Given the description of an element on the screen output the (x, y) to click on. 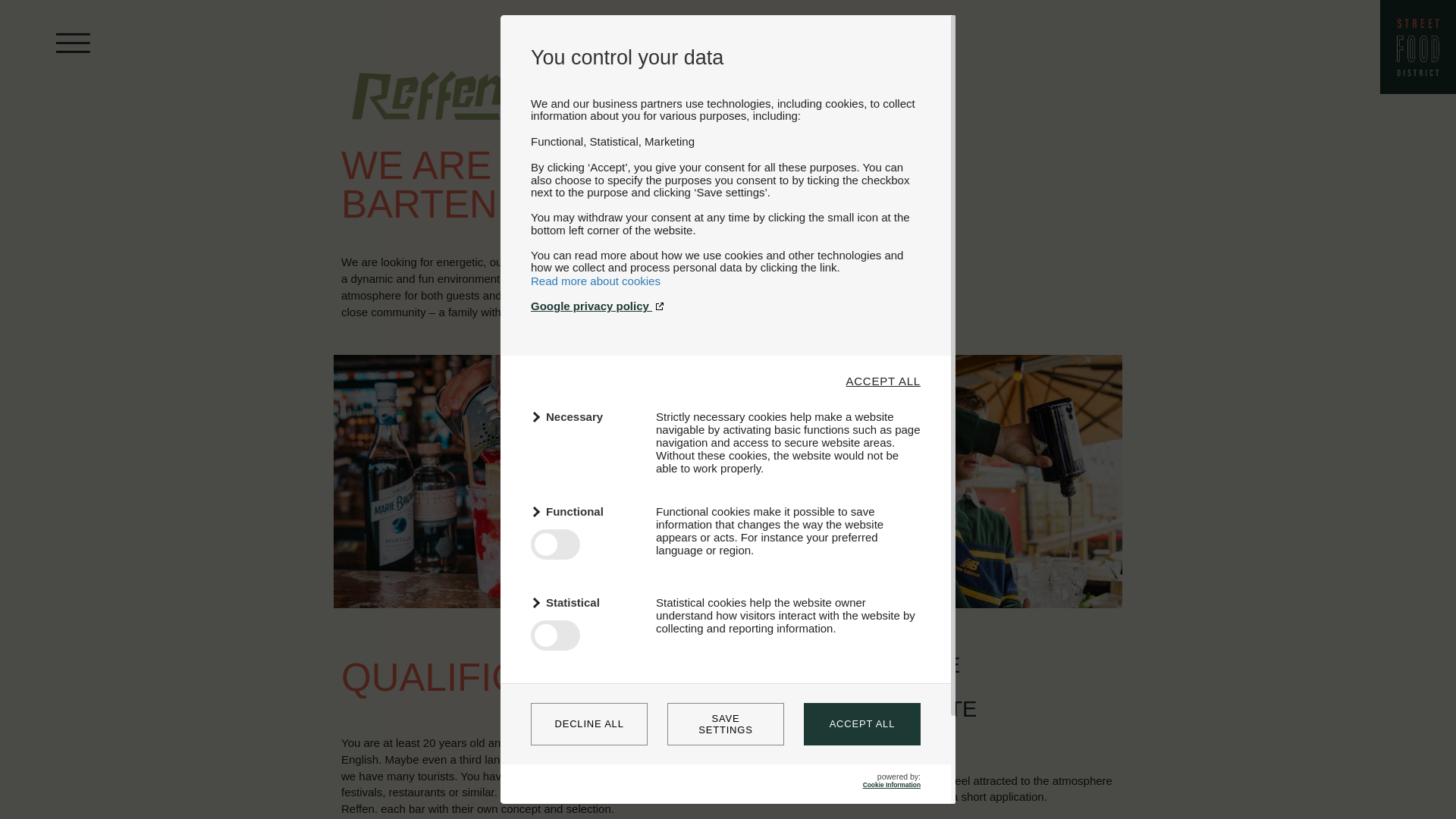
DECLINE ALL (589, 723)
Functional (584, 511)
Statistical (584, 602)
ACCEPT ALL (861, 723)
reffen (427, 111)
ACCEPT ALL (882, 380)
Read more about cookies (596, 280)
Google privacy policy (725, 305)
bartender (459, 480)
Marketing (584, 693)
Cookie Information (891, 784)
SAVE SETTINGS (725, 723)
Necessary (584, 416)
